Given the description of an element on the screen output the (x, y) to click on. 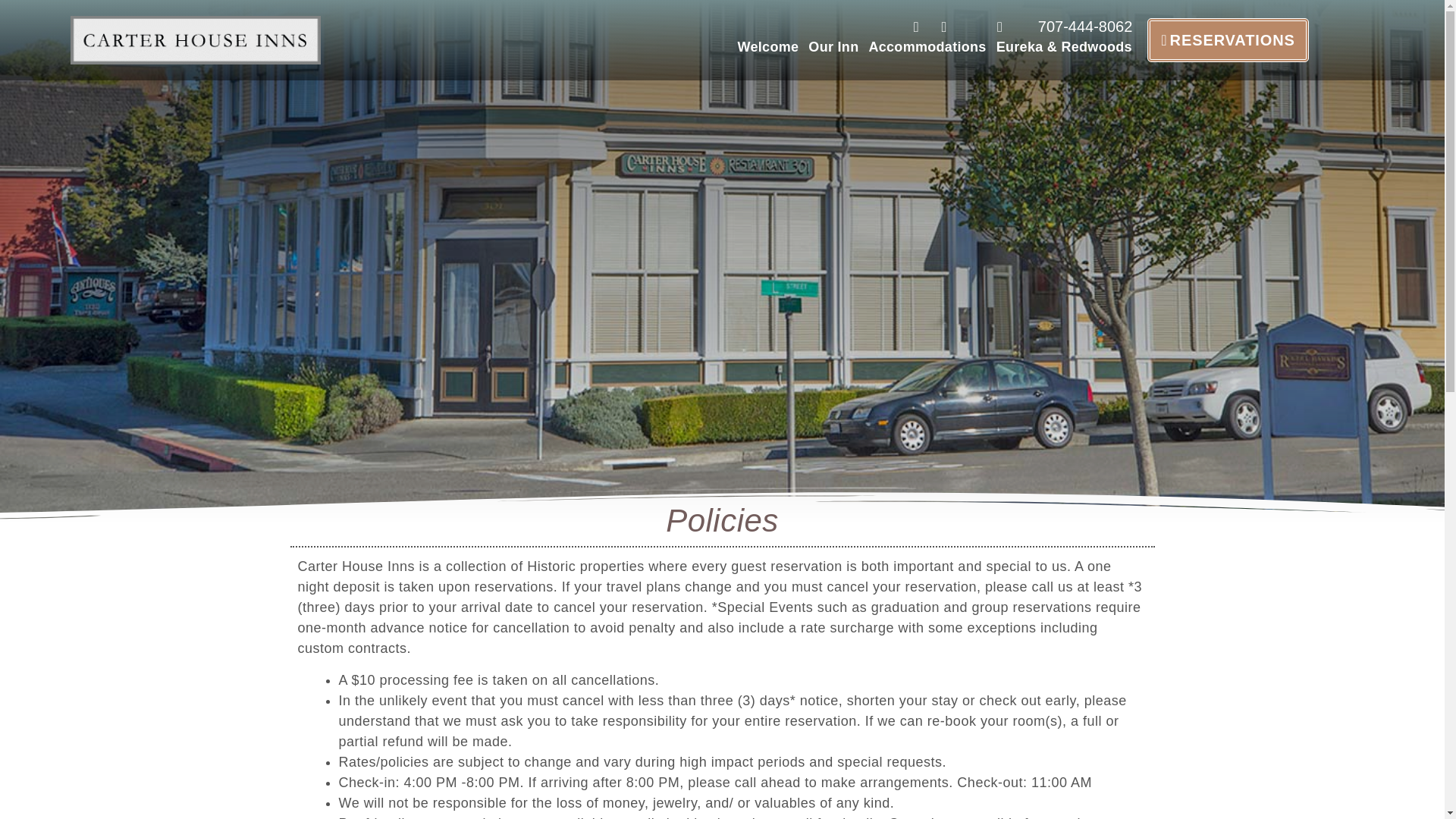
Accommodations (927, 47)
Welcome (768, 47)
707-444-8062 (1071, 26)
Our Inn (833, 47)
